Given the description of an element on the screen output the (x, y) to click on. 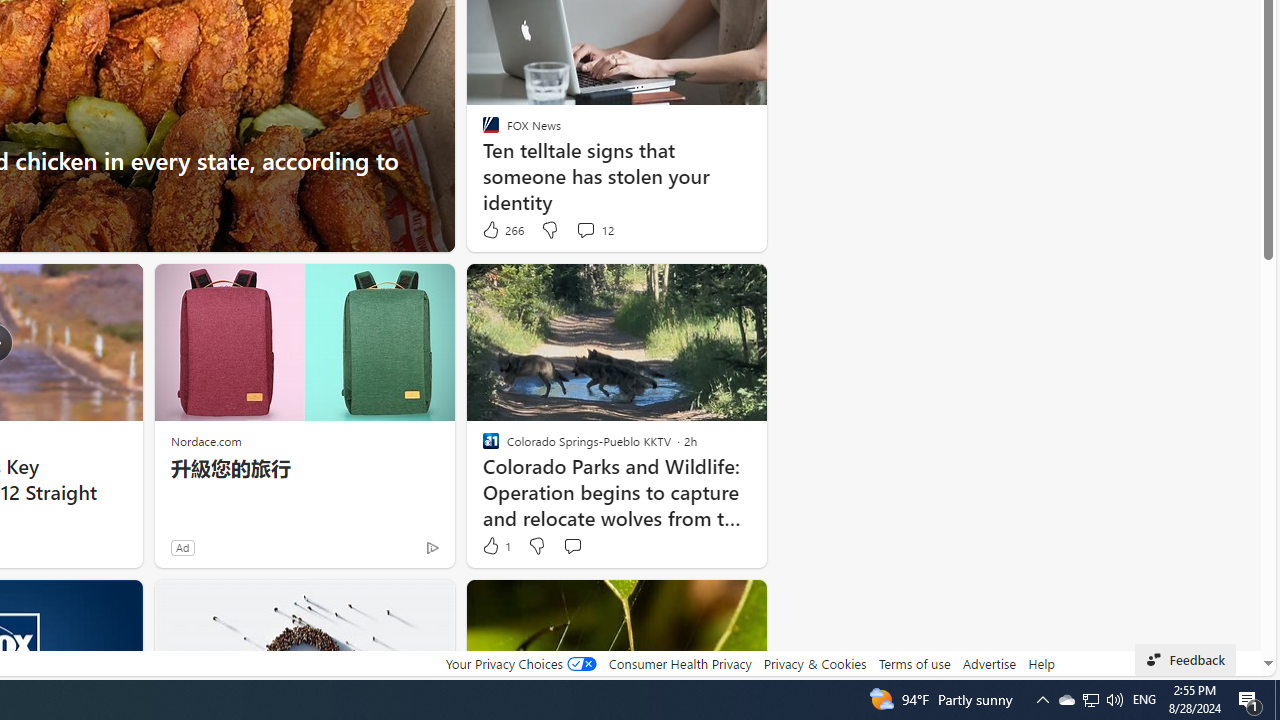
Ad (182, 547)
Start the conversation (571, 545)
Feedback (1185, 659)
Terms of use (914, 663)
Nordace.com (205, 440)
266 Like (502, 230)
Privacy & Cookies (814, 663)
Advertise (989, 663)
Help (1040, 663)
Dislike (536, 546)
See more (742, 603)
View comments 12 Comment (594, 230)
Your Privacy Choices (520, 663)
1 Like (495, 546)
